Given the description of an element on the screen output the (x, y) to click on. 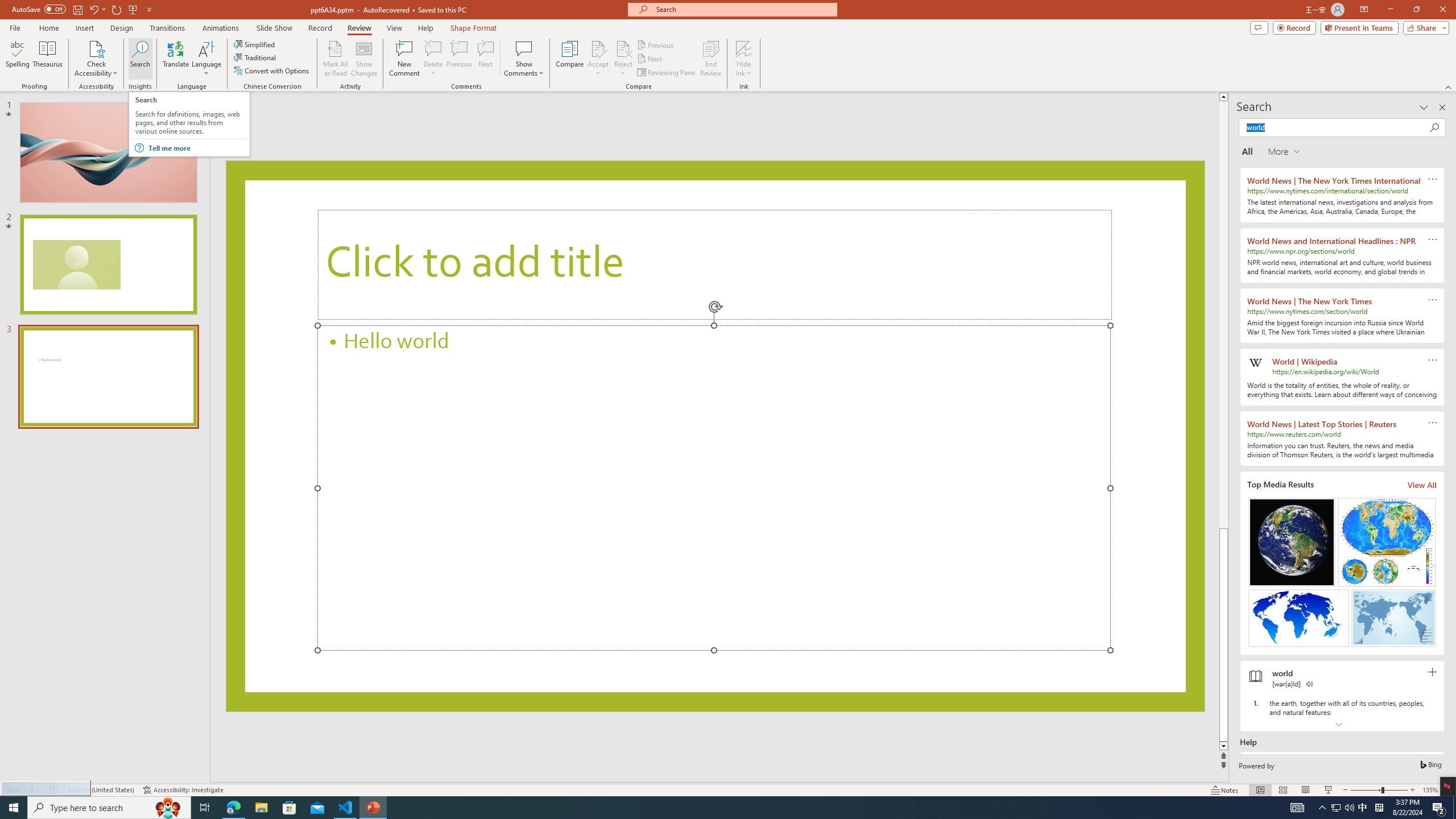
Simplified (254, 44)
Show Comments (524, 48)
New Comment (403, 58)
Delete (432, 48)
Zoom 135% (1430, 790)
Thesaurus... (47, 58)
